Given the description of an element on the screen output the (x, y) to click on. 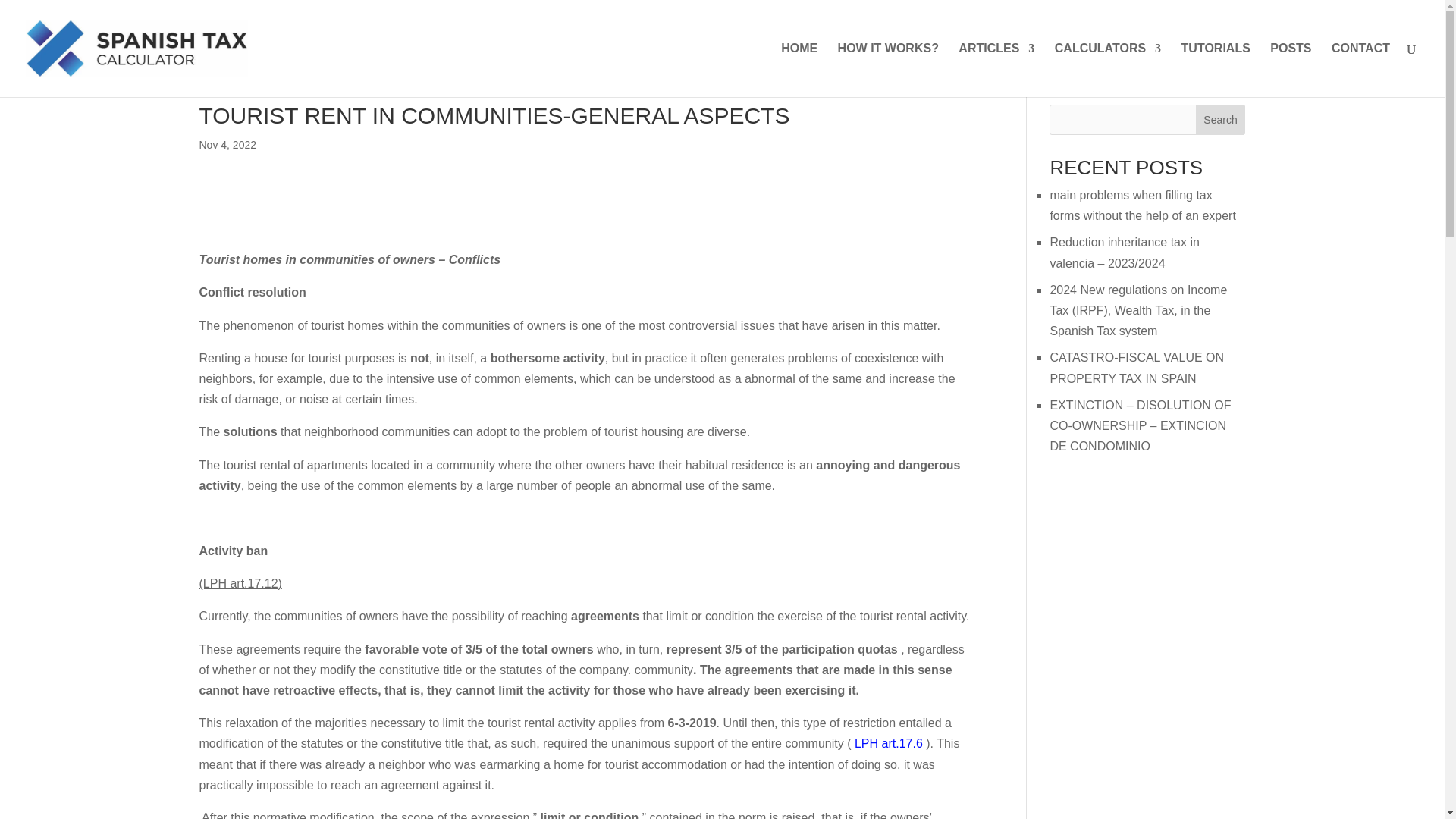
CALCULATORS (1107, 70)
ARTICLES (995, 70)
CONTACT (1361, 70)
LPH art.17.6 (890, 743)
CATASTRO-FISCAL VALUE ON PROPERTY TAX IN SPAIN (1136, 367)
TUTORIALS (1215, 70)
HOW IT WORKS? (888, 70)
Search (1220, 119)
